Given the description of an element on the screen output the (x, y) to click on. 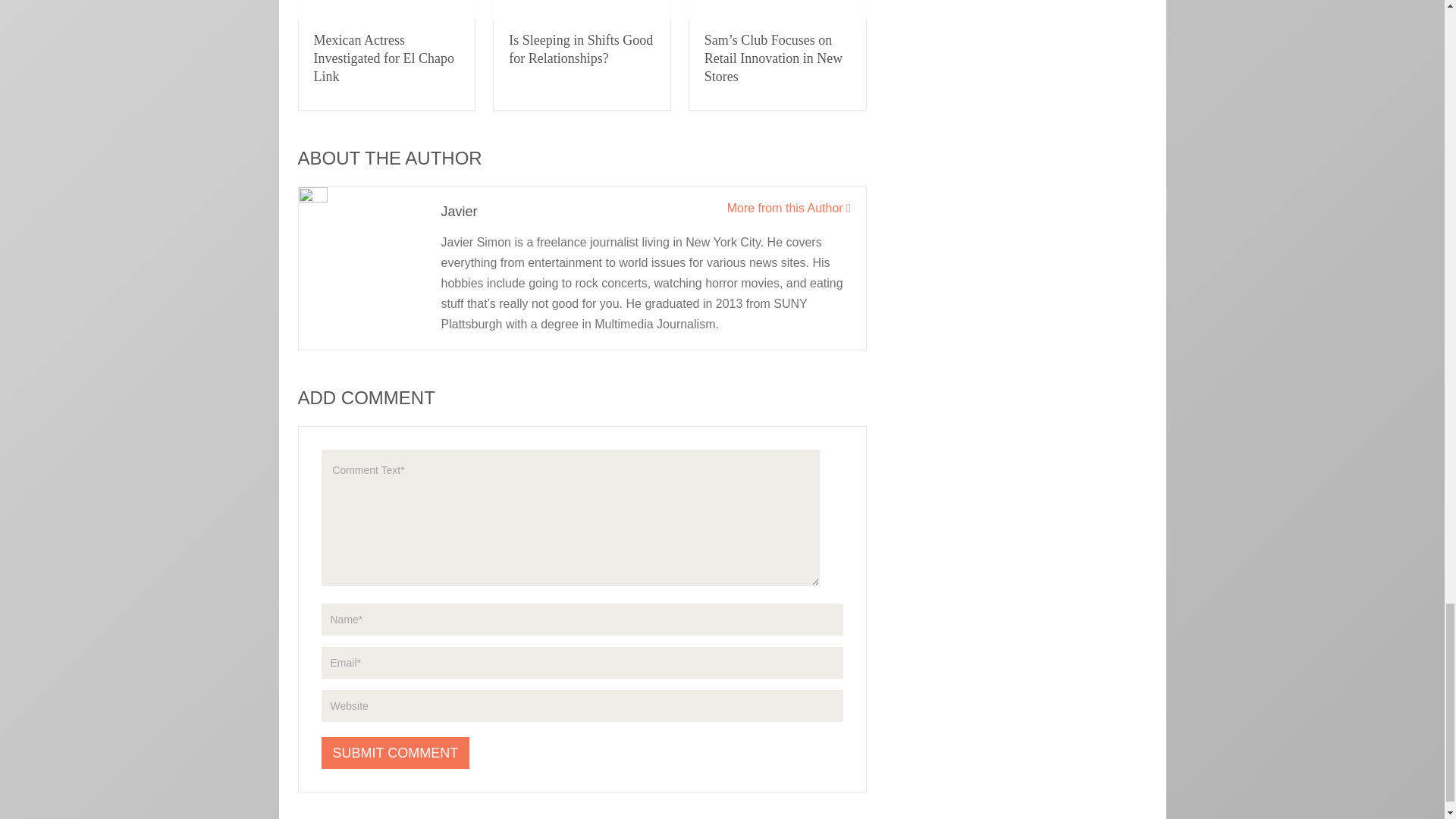
Submit Comment (395, 753)
Is Sleeping in Shifts Good for Relationships? (580, 49)
Mexican Actress Investigated for El Chapo Link (384, 58)
Submit Comment (395, 753)
More from this Author (788, 207)
